Given the description of an element on the screen output the (x, y) to click on. 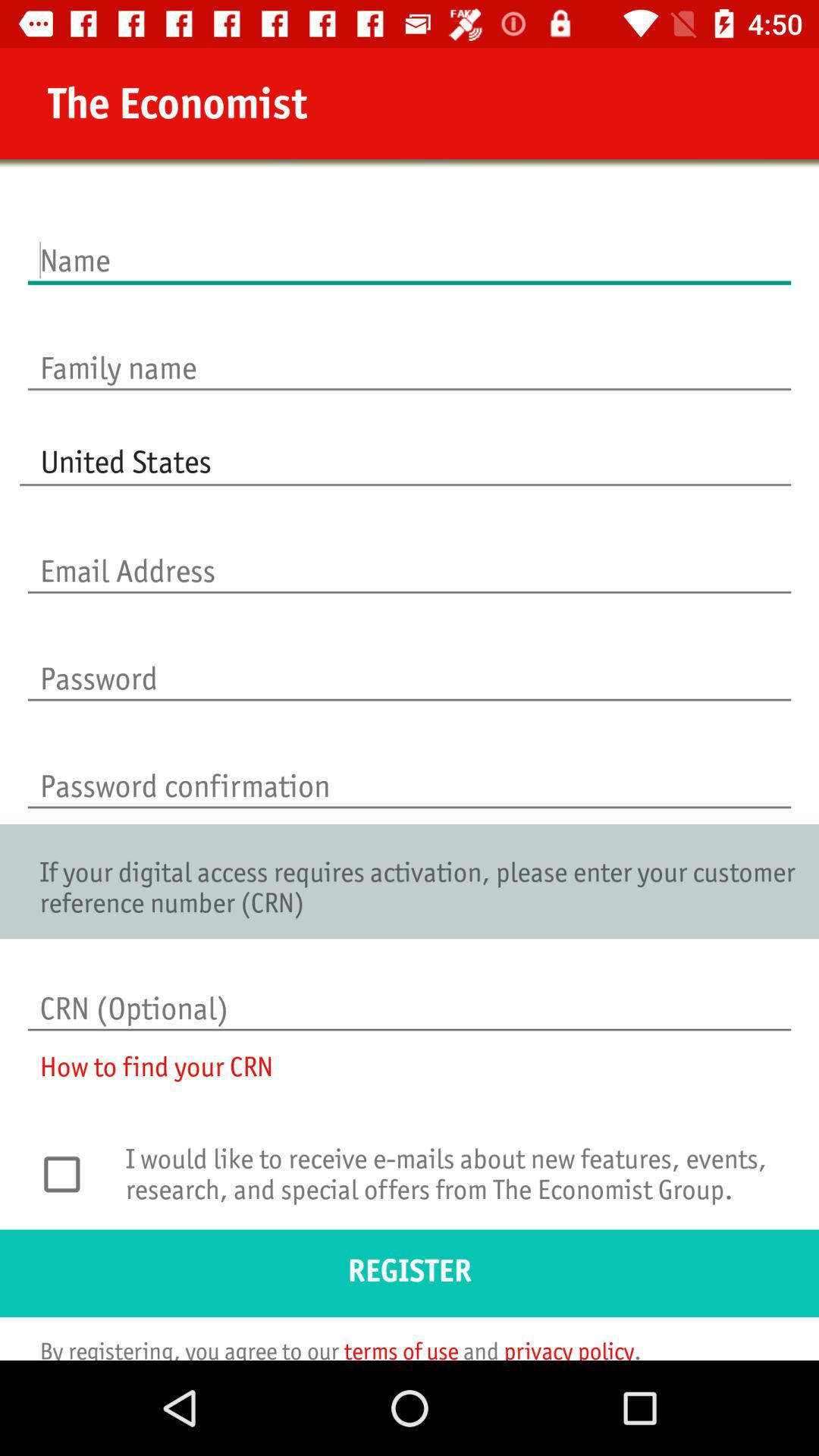
choose the i would like (454, 1183)
